Given the description of an element on the screen output the (x, y) to click on. 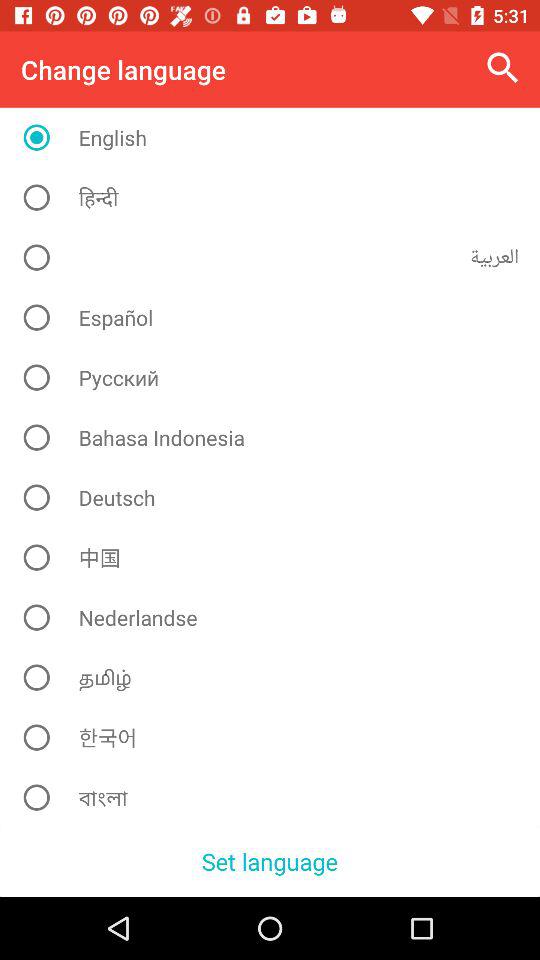
scroll until the bahasa indonesia item (277, 437)
